Given the description of an element on the screen output the (x, y) to click on. 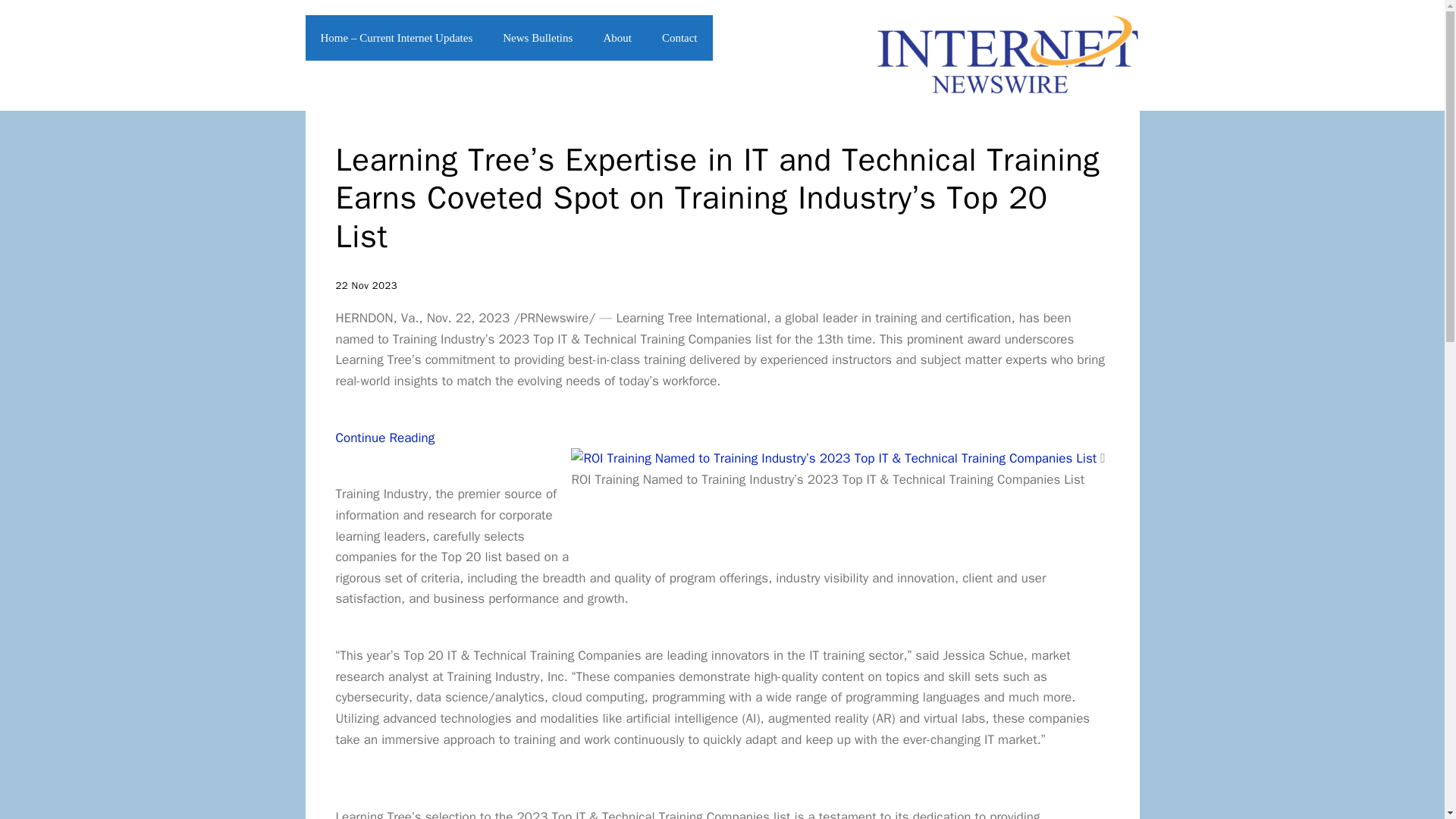
Continue Reading (383, 437)
Continue Reading (383, 437)
About (617, 37)
Contact (679, 37)
News Bulletins (537, 37)
